Given the description of an element on the screen output the (x, y) to click on. 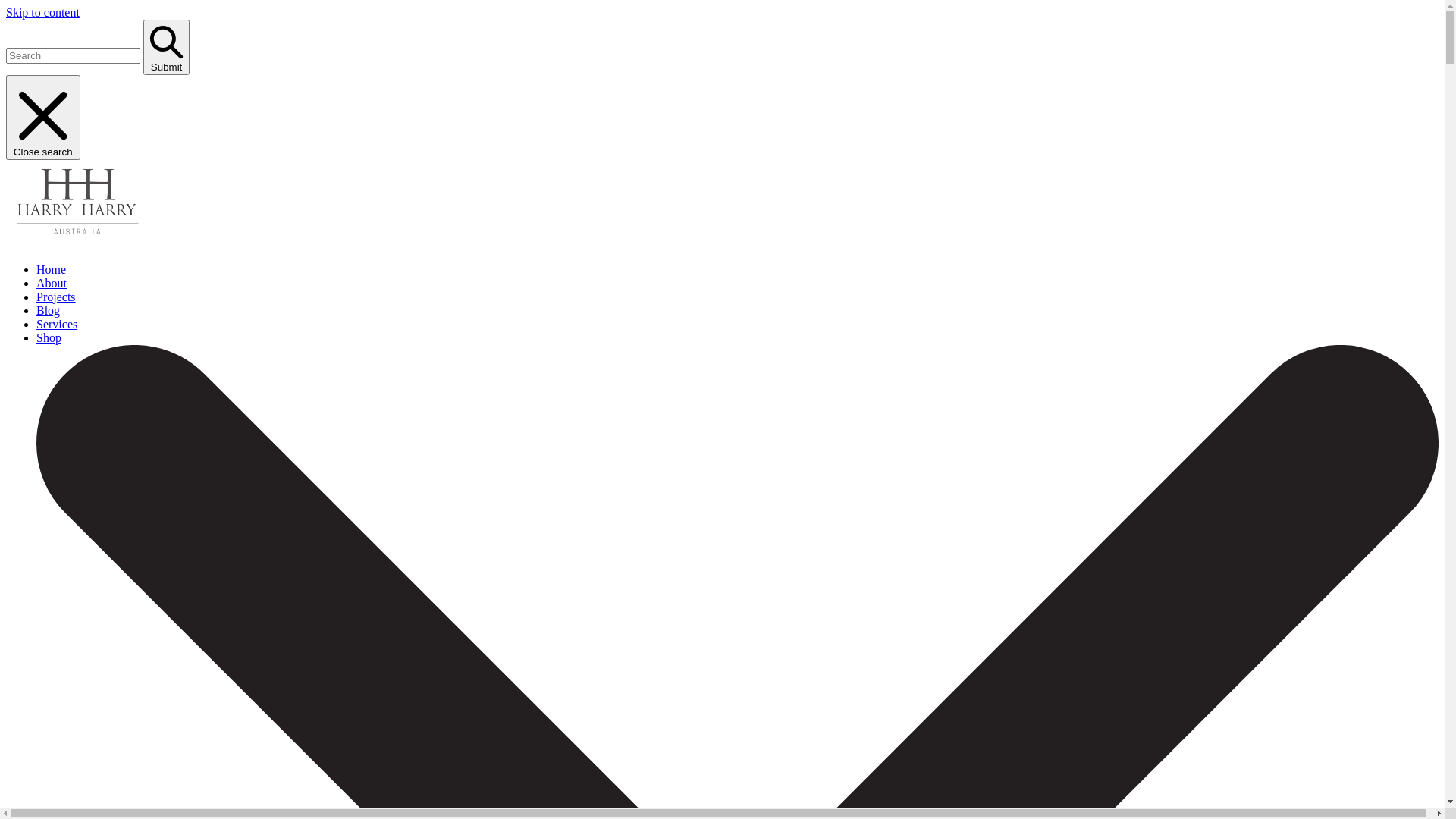
Skip to content Element type: text (42, 12)
About Element type: text (51, 282)
Projects Element type: text (55, 295)
Services Element type: text (56, 322)
Submit Element type: text (166, 47)
Close search Element type: text (43, 117)
Home Element type: text (50, 268)
Blog Element type: text (47, 309)
